Given the description of an element on the screen output the (x, y) to click on. 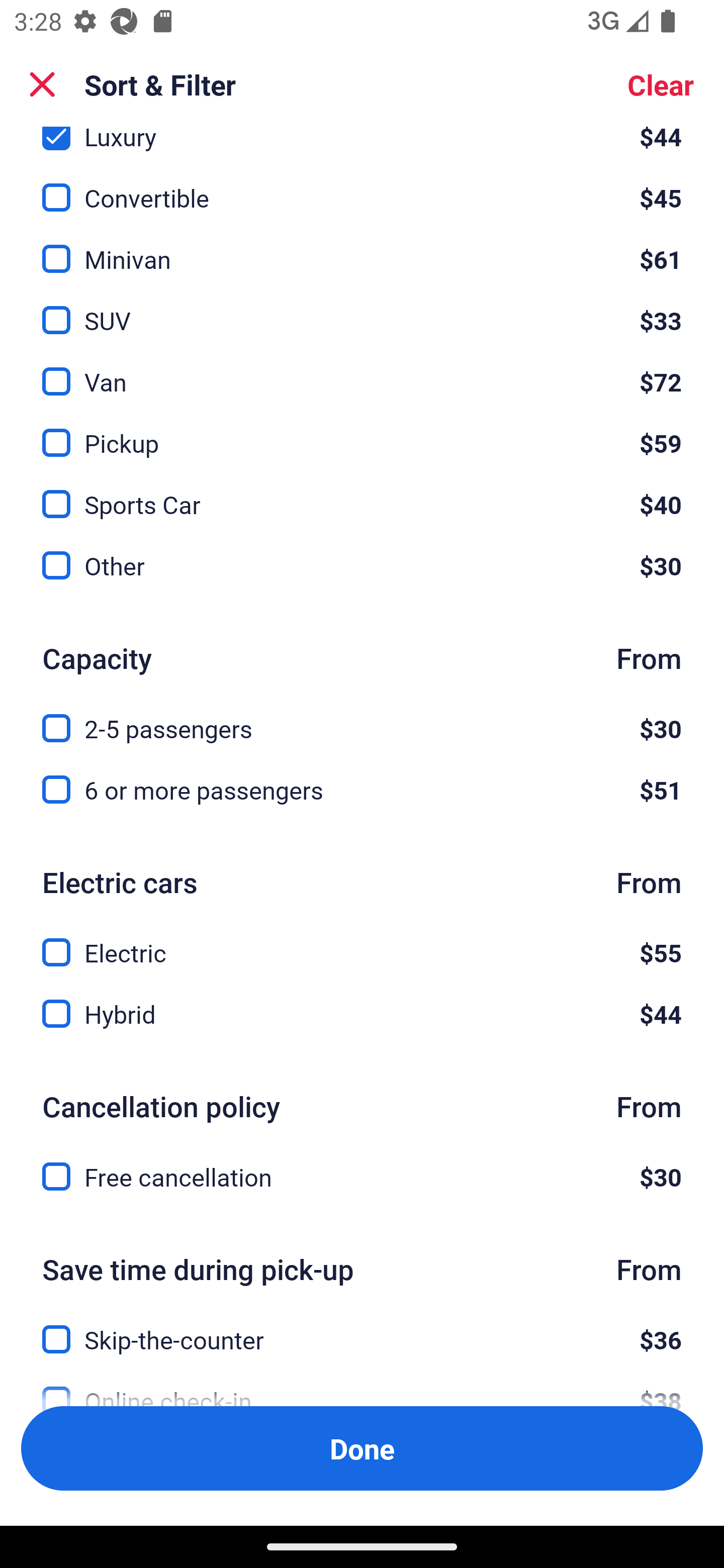
Close Sort and Filter (42, 84)
Clear (660, 84)
Luxury, $44 Luxury $44 (361, 141)
Convertible, $45 Convertible $45 (361, 185)
Minivan, $61 Minivan $61 (361, 247)
SUV, $33 SUV $33 (361, 309)
Van, $72 Van $72 (361, 370)
Pickup, $59 Pickup $59 (361, 431)
Sports Car, $40 Sports Car $40 (361, 492)
Other, $30 Other $30 (361, 565)
2-5 passengers, $30 2-5 passengers $30 (361, 716)
6 or more passengers, $51 6 or more passengers $51 (361, 789)
Electric, $55 Electric $55 (361, 941)
Hybrid, $44 Hybrid $44 (361, 1014)
Free cancellation, $30 Free cancellation $30 (361, 1177)
Skip-the-counter, $36 Skip-the-counter $36 (361, 1328)
Apply and close Sort and Filter Done (361, 1448)
